Given the description of an element on the screen output the (x, y) to click on. 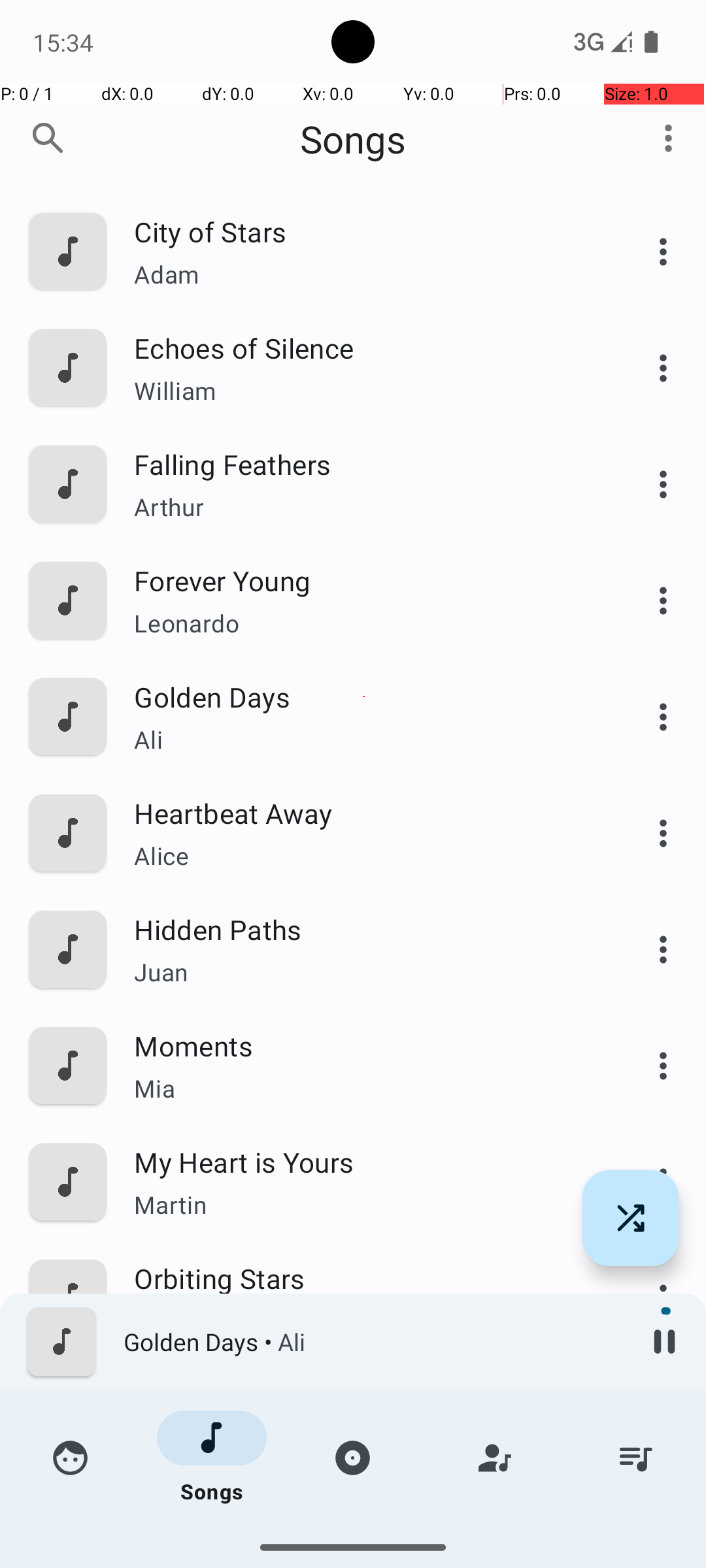
Golden Days • Ali Element type: android.widget.TextView (372, 1341)
City of Stars Element type: android.widget.TextView (363, 231)
Adam Element type: android.widget.TextView (363, 273)
Echoes of Silence Element type: android.widget.TextView (363, 347)
William Element type: android.widget.TextView (363, 390)
Falling Feathers Element type: android.widget.TextView (363, 463)
Arthur Element type: android.widget.TextView (363, 506)
Forever Young Element type: android.widget.TextView (363, 580)
Leonardo Element type: android.widget.TextView (363, 622)
Golden Days Element type: android.widget.TextView (363, 696)
Ali Element type: android.widget.TextView (363, 738)
Heartbeat Away Element type: android.widget.TextView (363, 812)
Alice Element type: android.widget.TextView (363, 855)
Hidden Paths Element type: android.widget.TextView (363, 928)
Juan Element type: android.widget.TextView (363, 971)
Moments Element type: android.widget.TextView (363, 1045)
Mia Element type: android.widget.TextView (363, 1087)
My Heart is Yours Element type: android.widget.TextView (363, 1161)
Martin Element type: android.widget.TextView (363, 1204)
Orbiting Stars Element type: android.widget.TextView (363, 1277)
Reflections Element type: android.widget.TextView (363, 1394)
Jose Element type: android.widget.TextView (363, 1436)
Serenity Now Element type: android.widget.TextView (363, 1510)
Oscar Element type: android.widget.TextView (363, 1538)
